Given the description of an element on the screen output the (x, y) to click on. 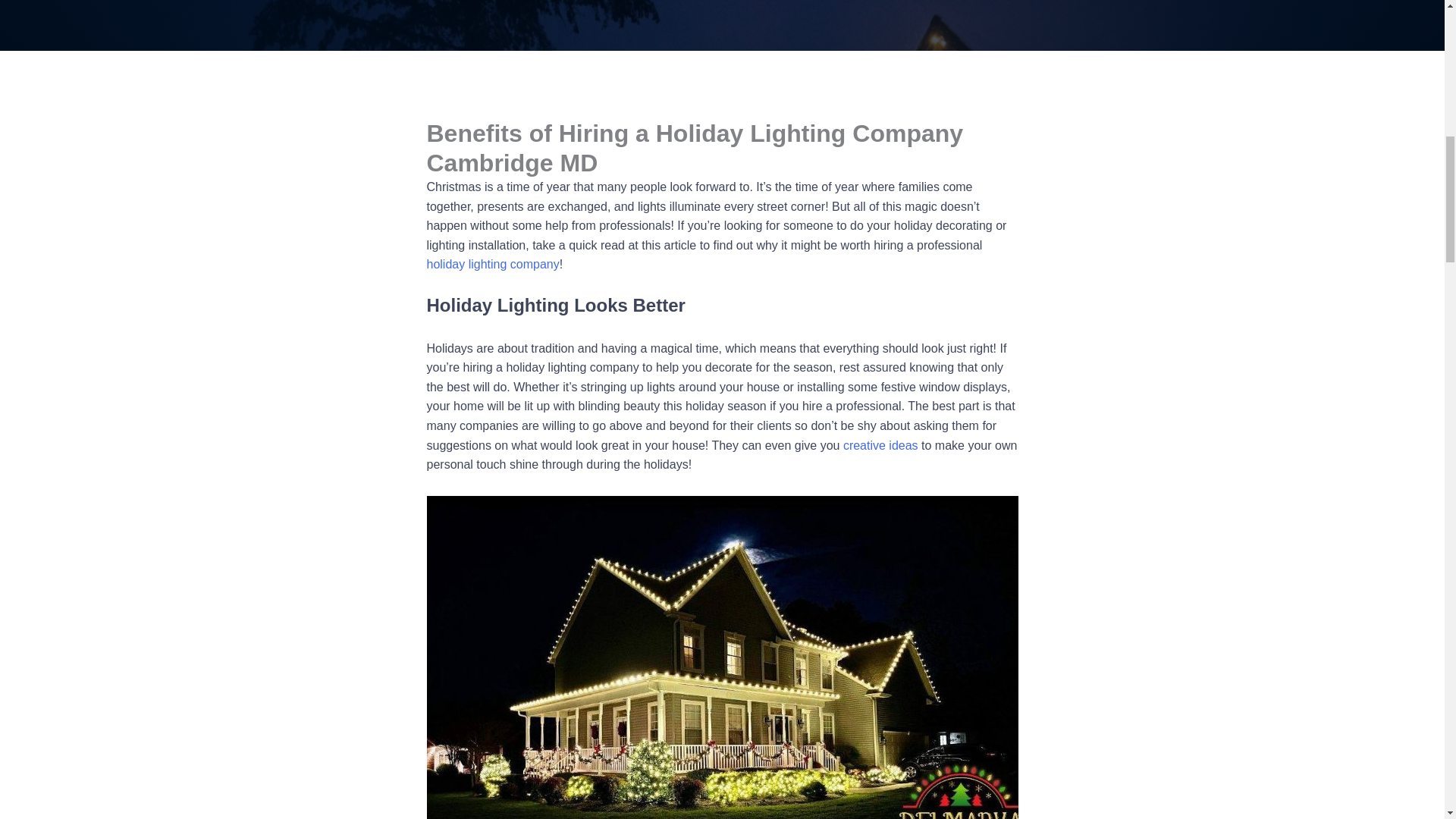
creative ideas (880, 445)
holiday lighting company (492, 264)
